Given the description of an element on the screen output the (x, y) to click on. 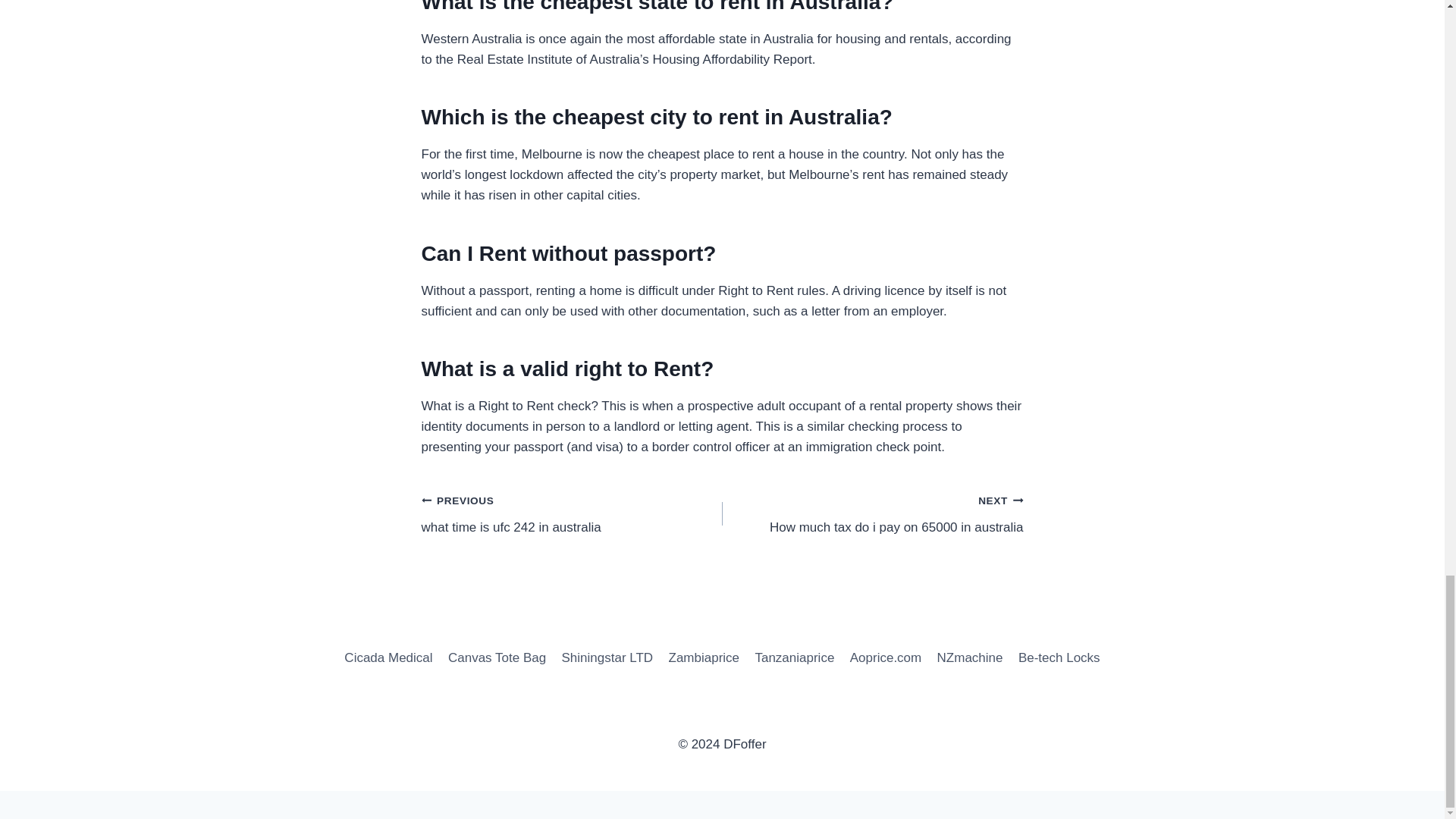
Canvas Tote Bag (497, 657)
Cicada Medical (388, 657)
Shiningstar LTD (572, 513)
Zambiaprice (872, 513)
